Given the description of an element on the screen output the (x, y) to click on. 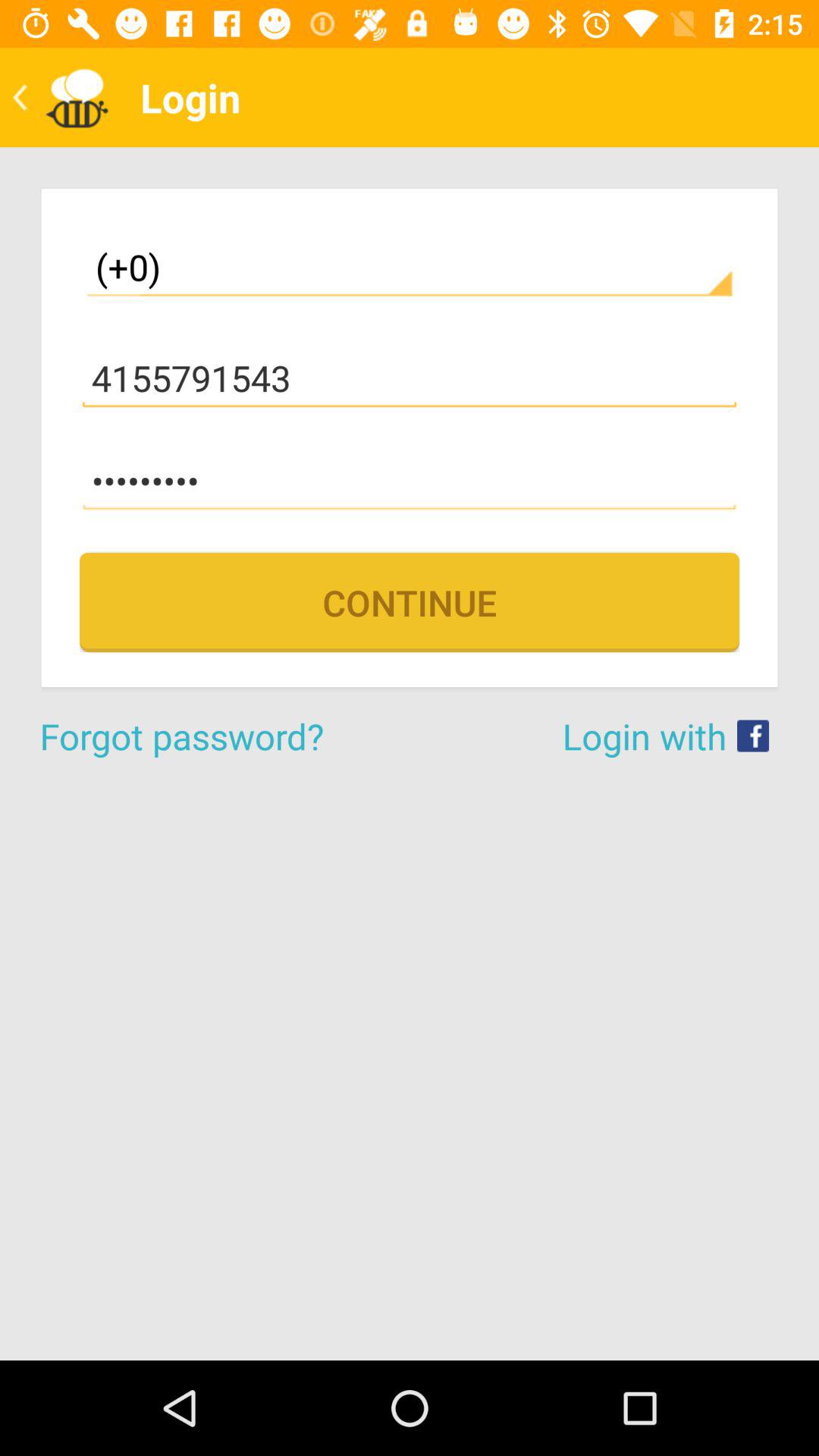
select the crowd3116 icon (409, 481)
